Given the description of an element on the screen output the (x, y) to click on. 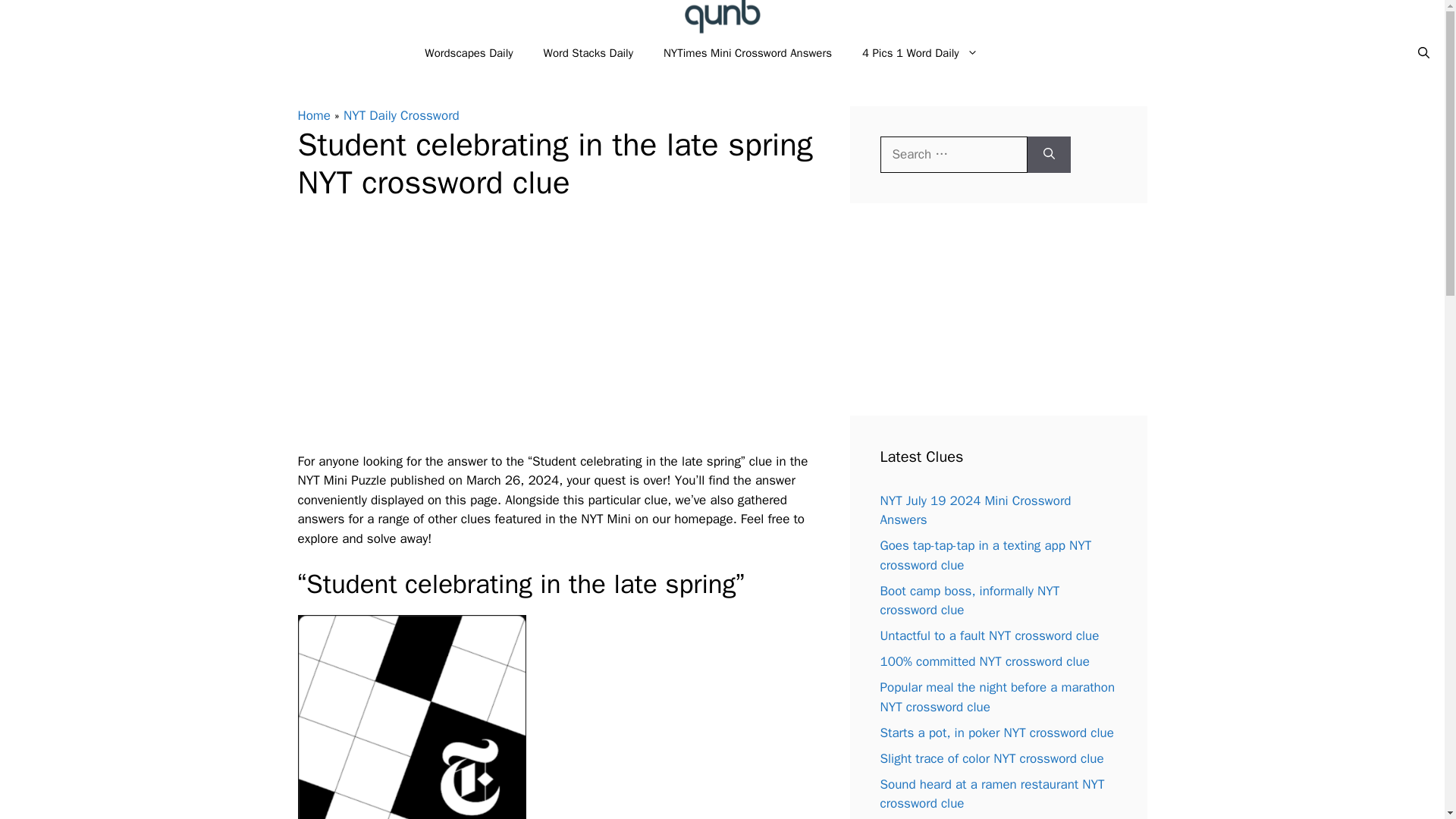
Goes tap-tap-tap in a texting app NYT crossword clue (984, 555)
4 Pics 1 Word Daily (919, 53)
NYTimes Mini Crossword Answers (747, 53)
Sound heard at a ramen restaurant NYT crossword clue (991, 794)
Advertisement (557, 333)
Slight trace of color NYT crossword clue (991, 758)
Popular meal the night before a marathon NYT crossword clue (997, 696)
nyt crossword clue (411, 717)
Home (313, 115)
Wordscapes Daily (468, 53)
NYT Daily Crossword (401, 115)
Starts a pot, in poker NYT crossword clue (996, 732)
Untactful to a fault NYT crossword clue (989, 635)
Boot camp boss, informally NYT crossword clue (969, 600)
NYT July 19 2024 Mini Crossword Answers (974, 510)
